Given the description of an element on the screen output the (x, y) to click on. 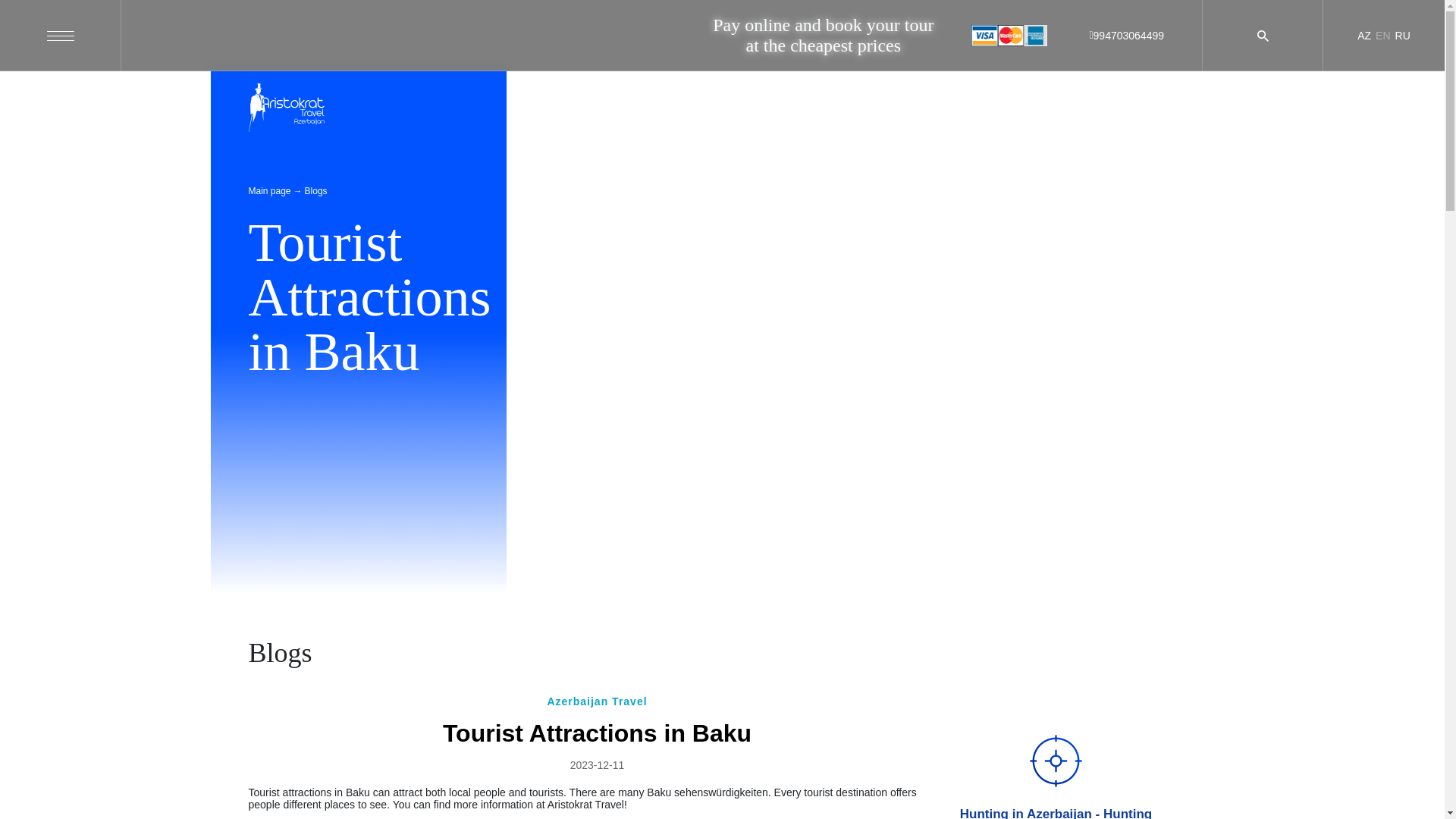
994703064499 (1126, 35)
2023-12-11 (597, 765)
Azerbaijan Travel (596, 701)
EN (1382, 35)
Main page (269, 190)
Hunting in Azerbaijan - Hunting Tours in Azerbaijan (1055, 757)
RU (1402, 35)
AZ (1363, 35)
Tourist Attractions in Baku (596, 733)
